Given the description of an element on the screen output the (x, y) to click on. 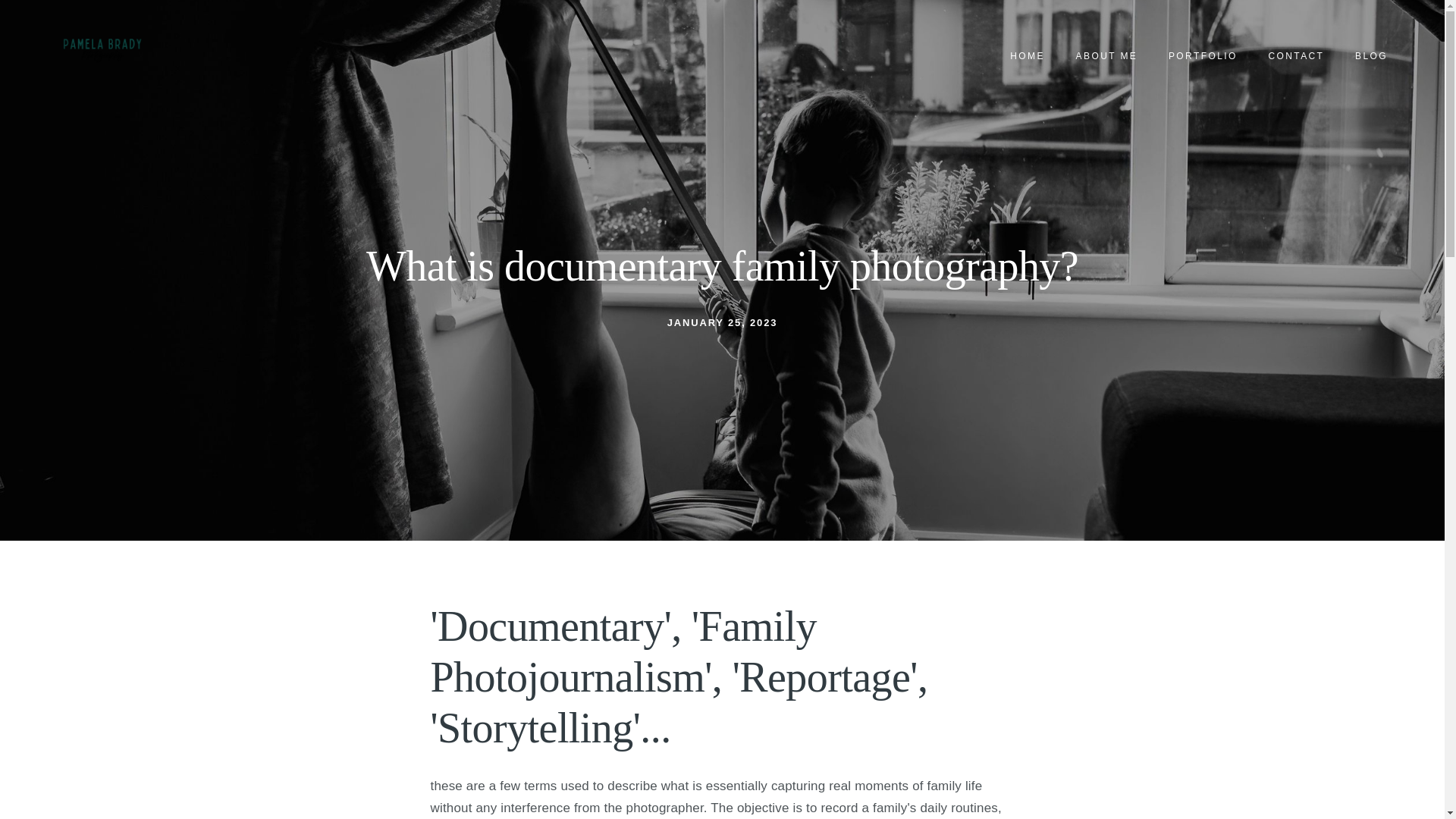
HOME (1027, 55)
PORTFOLIO (1203, 55)
BLOG (1371, 55)
ABOUT ME (1106, 55)
CONTACT (1296, 55)
